Given the description of an element on the screen output the (x, y) to click on. 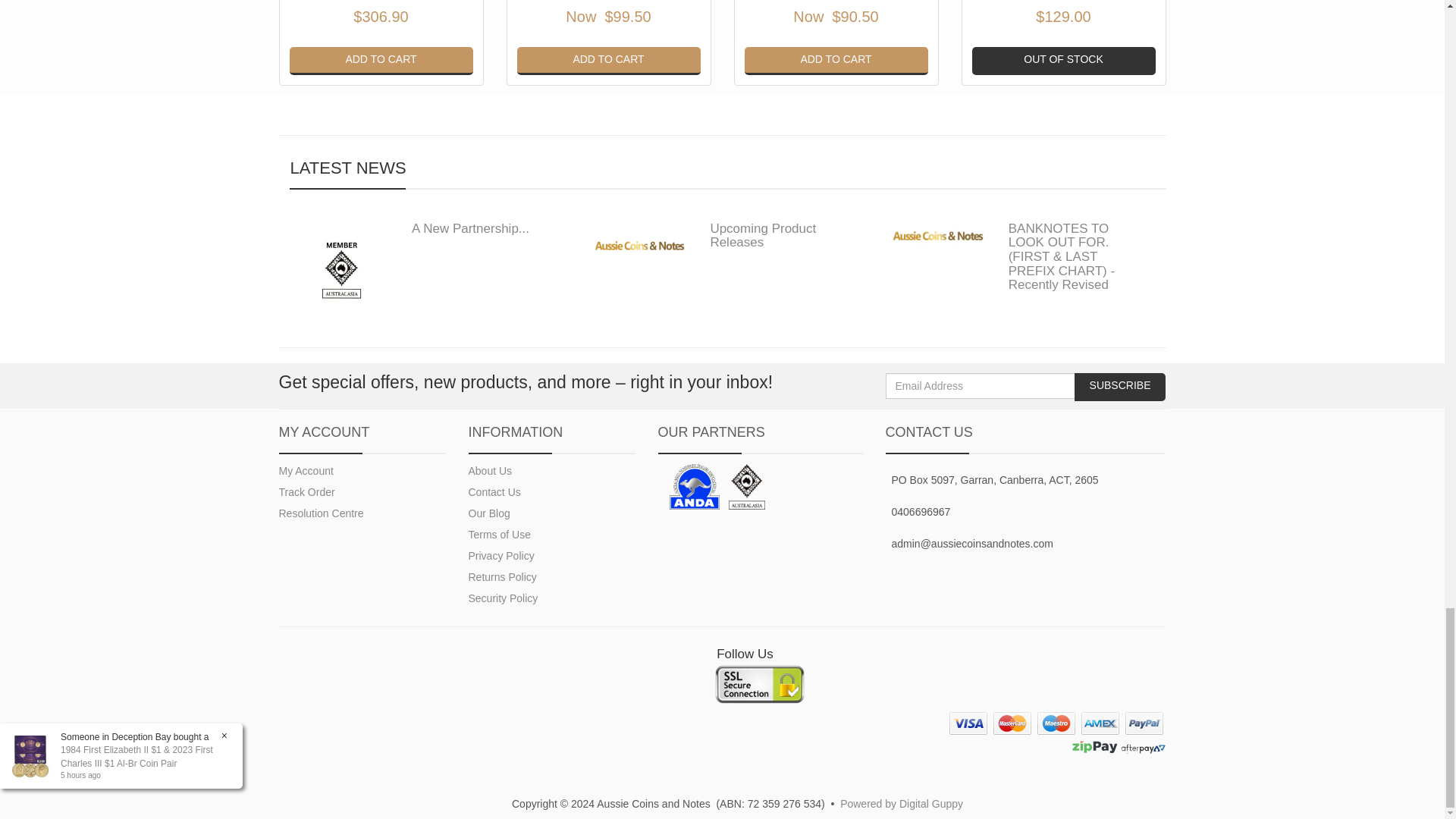
Subscribe (1120, 387)
